Given the description of an element on the screen output the (x, y) to click on. 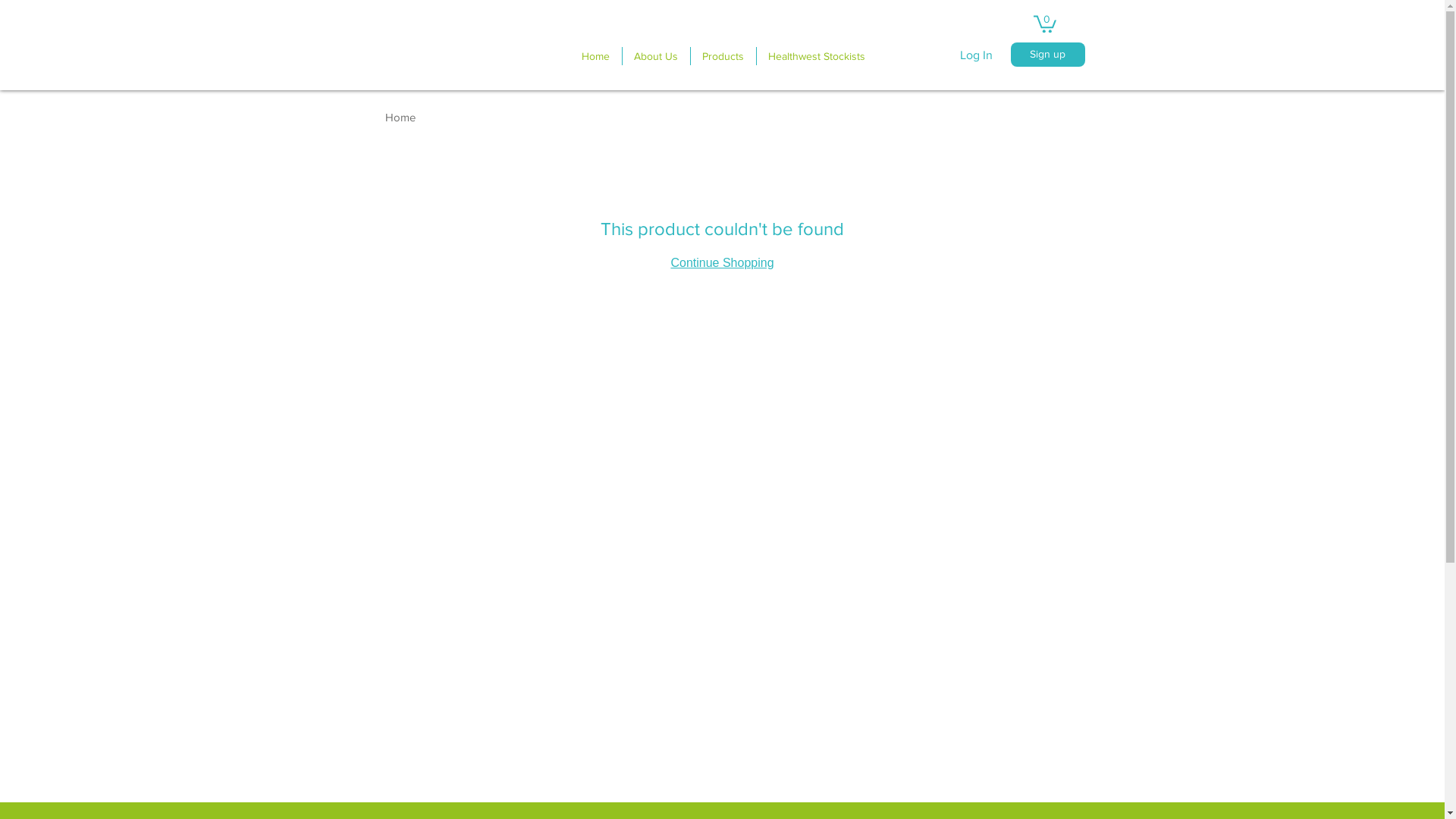
Sign up Element type: text (1047, 54)
Continue Shopping Element type: text (721, 262)
Home Element type: text (594, 56)
Healthwest Stockists Element type: text (815, 56)
About Us Element type: text (655, 56)
Products Element type: text (723, 56)
Log In Element type: text (976, 55)
0 Element type: text (1043, 22)
Home Element type: text (400, 116)
